Given the description of an element on the screen output the (x, y) to click on. 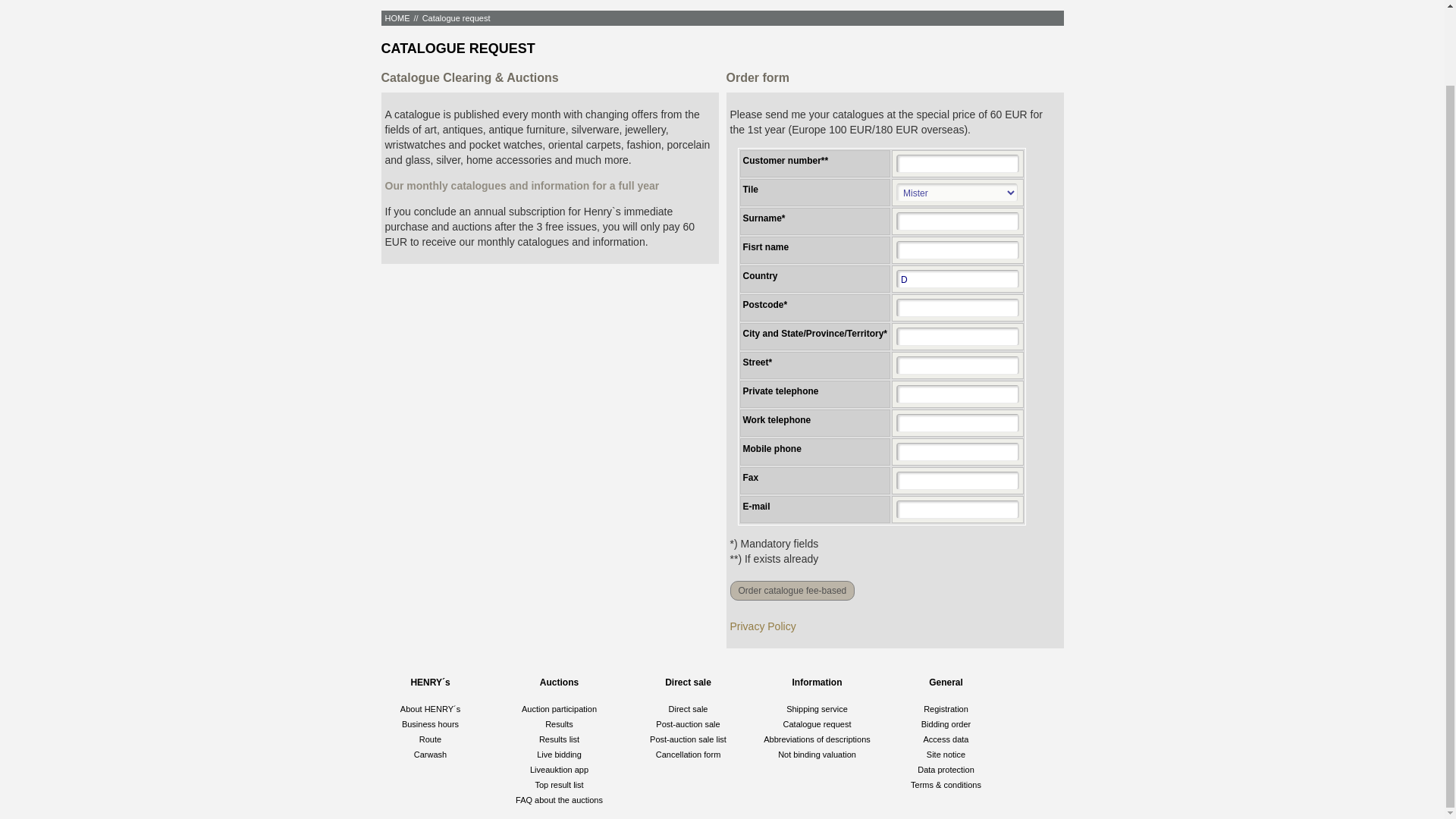
Route (430, 738)
HOME (397, 17)
Results list (558, 738)
Order catalogue fee-based (791, 590)
Business hours (429, 723)
Privacy Policy (761, 625)
Kataloge kostenpflichtig bestellen (791, 590)
Results (558, 723)
Auction participation (558, 708)
D (957, 279)
Carwash (429, 754)
Auctions (559, 682)
Catalogue request (456, 17)
